Given the description of an element on the screen output the (x, y) to click on. 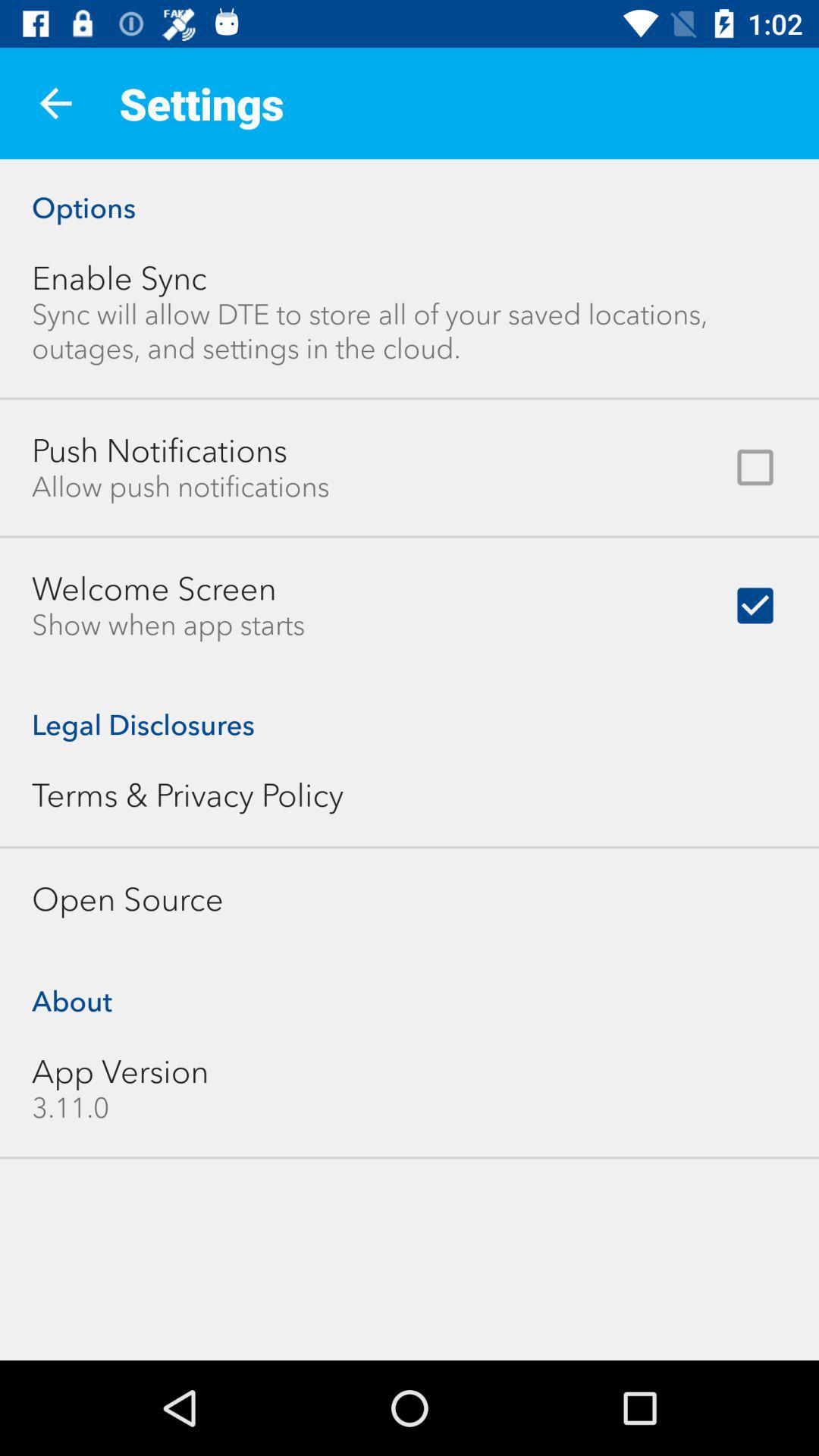
flip to the show when app item (167, 624)
